Given the description of an element on the screen output the (x, y) to click on. 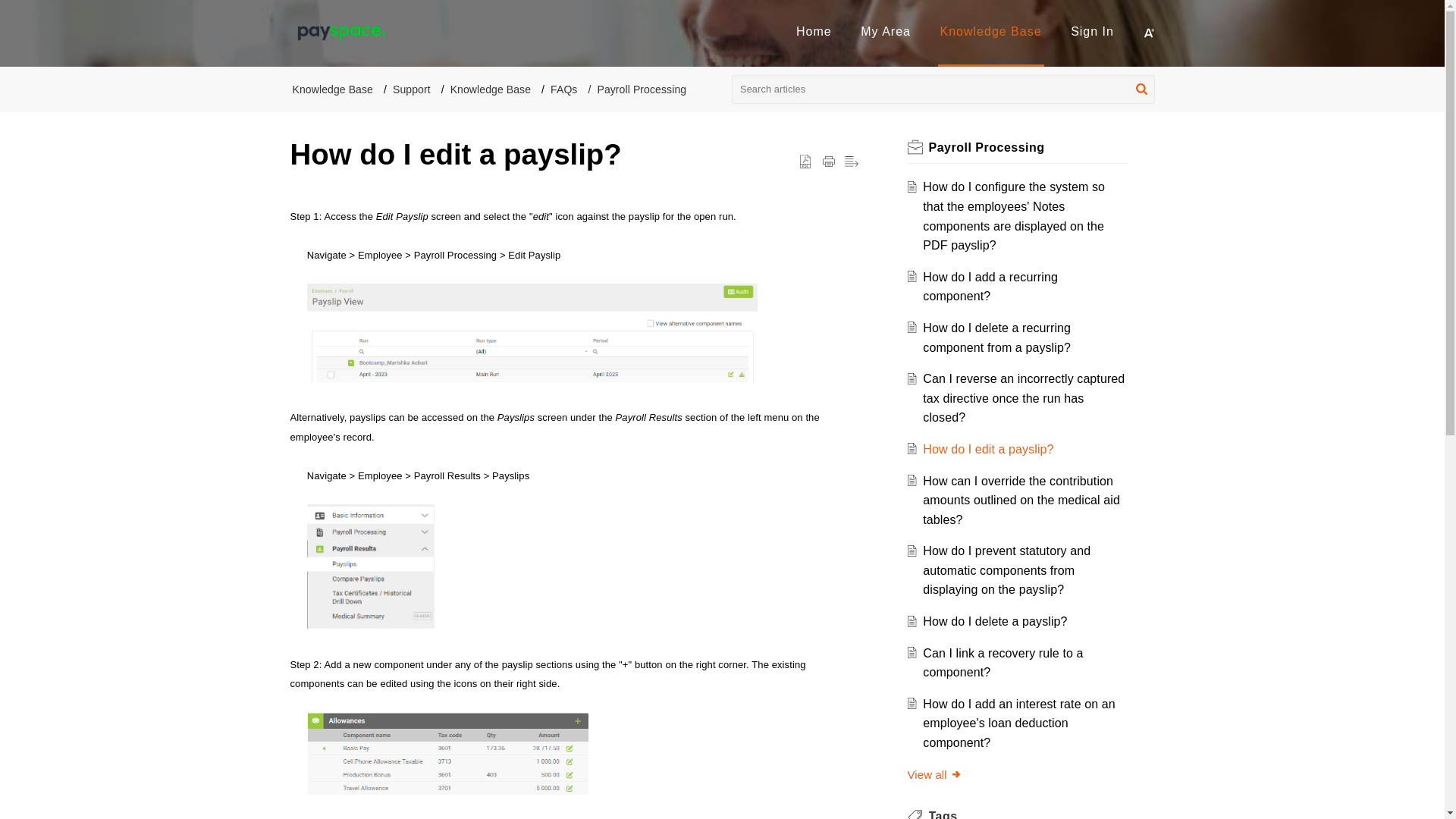
My Area (885, 31)
Home (813, 31)
Sign In (1091, 31)
Knowledge Base (332, 89)
Can I link a recovery rule to a component? (1003, 663)
FAQs (563, 89)
How do I add a recurring component? (990, 287)
Knowledge Base (490, 89)
How do I add a recurring component? (990, 287)
Knowledge Base (991, 31)
Knowledge Base (991, 31)
How do I edit a payslip? (987, 449)
